Given the description of an element on the screen output the (x, y) to click on. 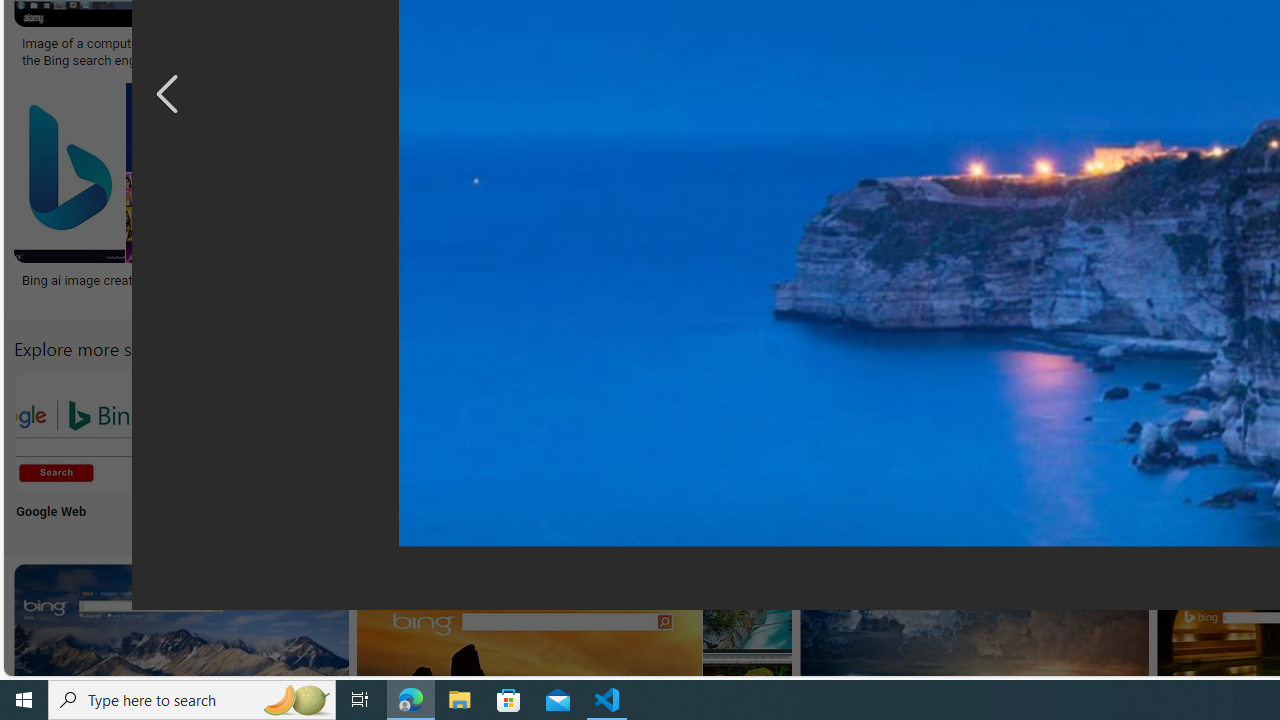
Bing Clip ART SEARCH (867, 432)
BingSave (647, 196)
Bing People Search People (999, 450)
